Given the description of an element on the screen output the (x, y) to click on. 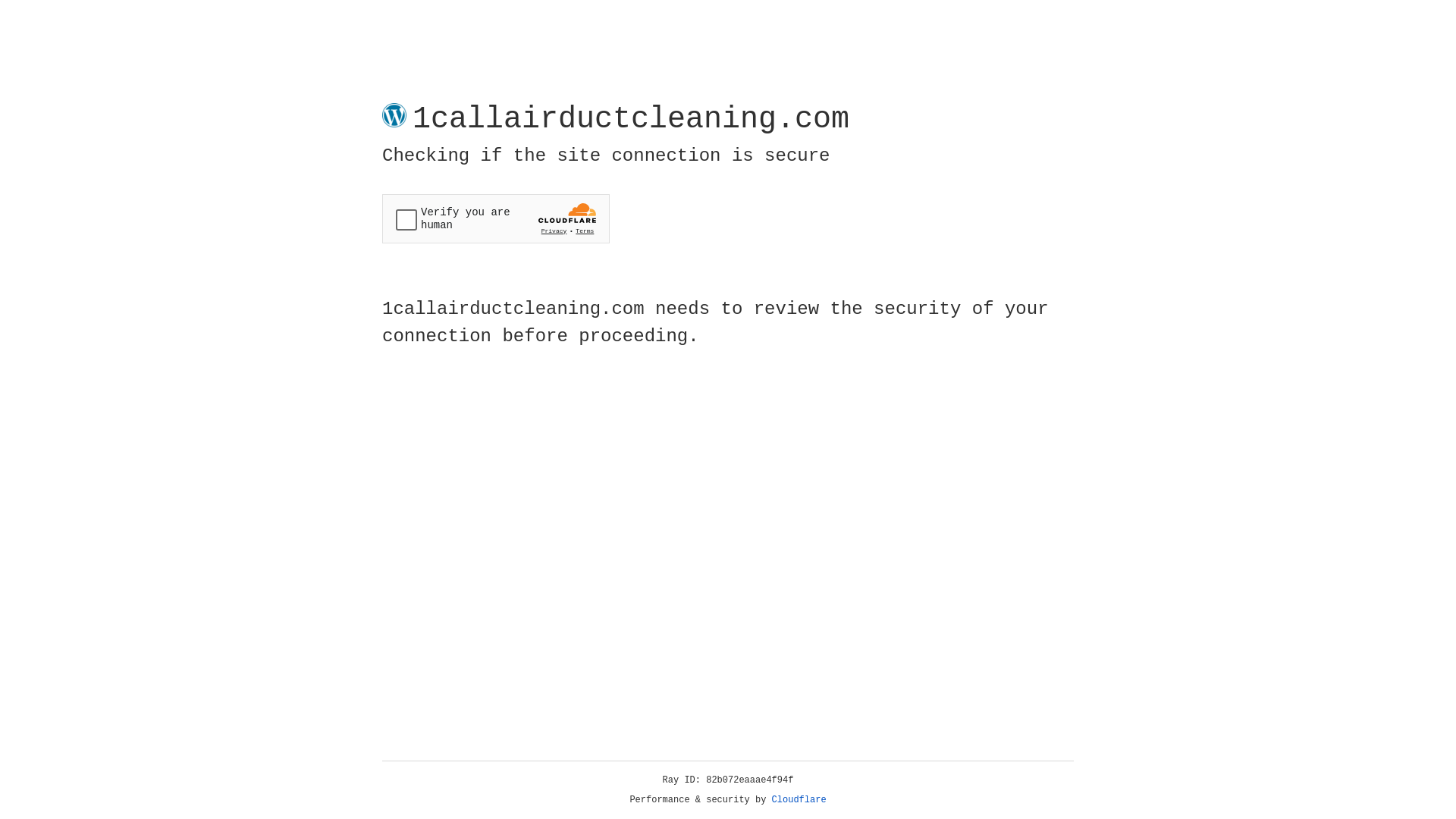
Cloudflare Element type: text (798, 799)
Widget containing a Cloudflare security challenge Element type: hover (495, 218)
